Given the description of an element on the screen output the (x, y) to click on. 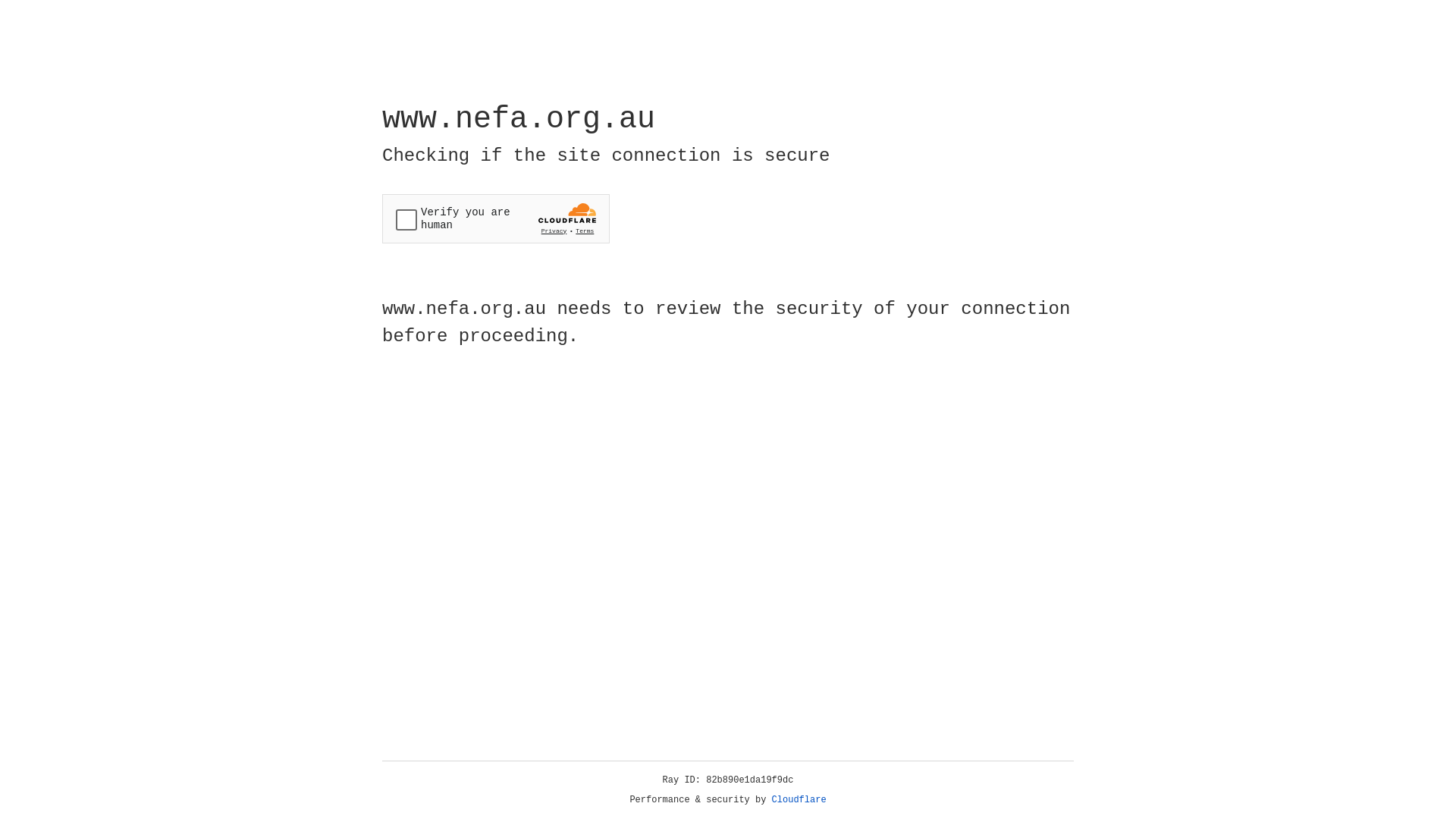
Cloudflare Element type: text (798, 799)
Widget containing a Cloudflare security challenge Element type: hover (495, 218)
